Given the description of an element on the screen output the (x, y) to click on. 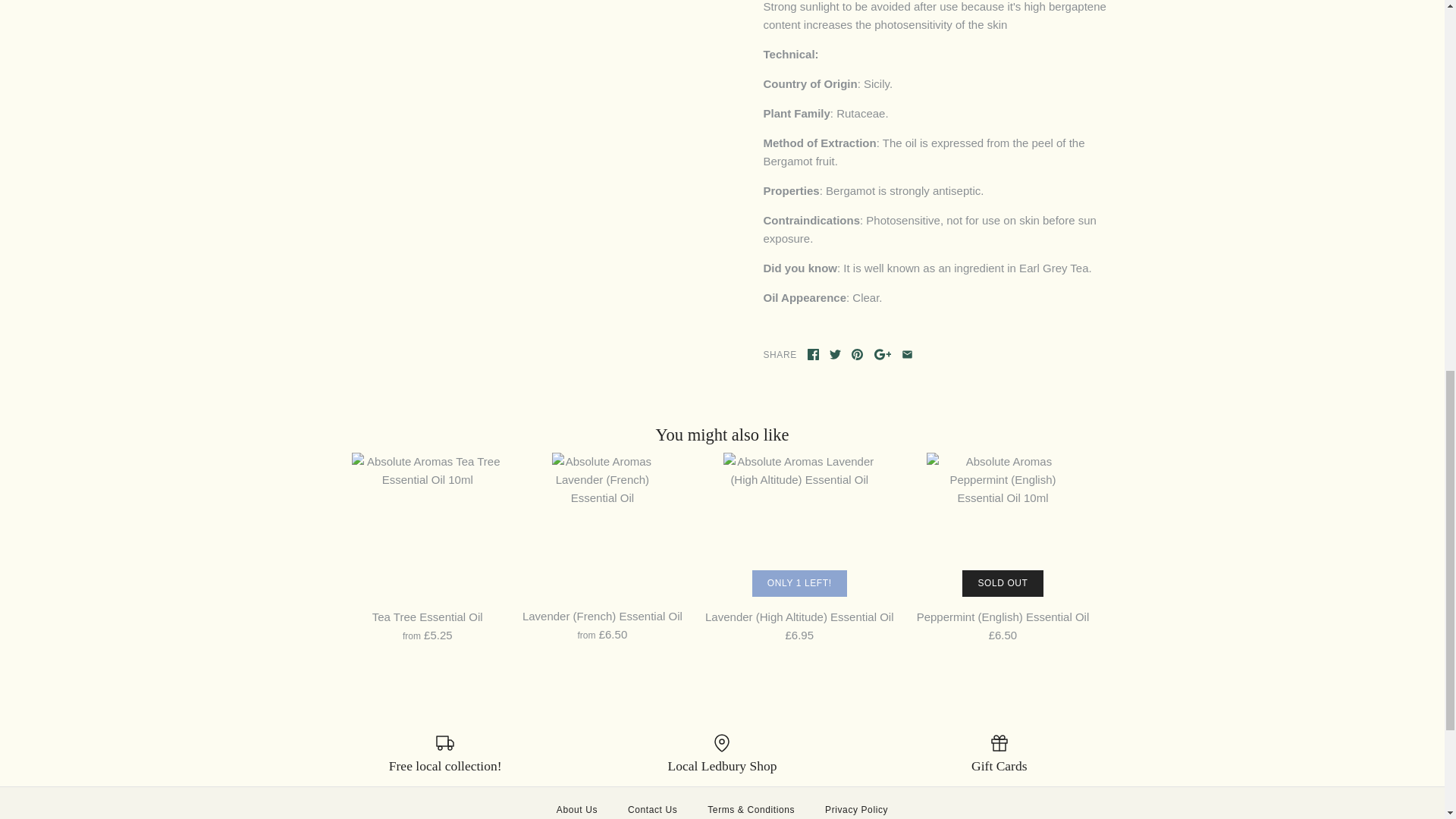
Email (906, 354)
Share using email (906, 354)
Share on Twitter (835, 354)
Facebook (813, 354)
GooglePlus (883, 354)
Twitter (835, 354)
Pin the main image (857, 354)
Pinterest (857, 354)
Share on Facebook (813, 354)
